Given the description of an element on the screen output the (x, y) to click on. 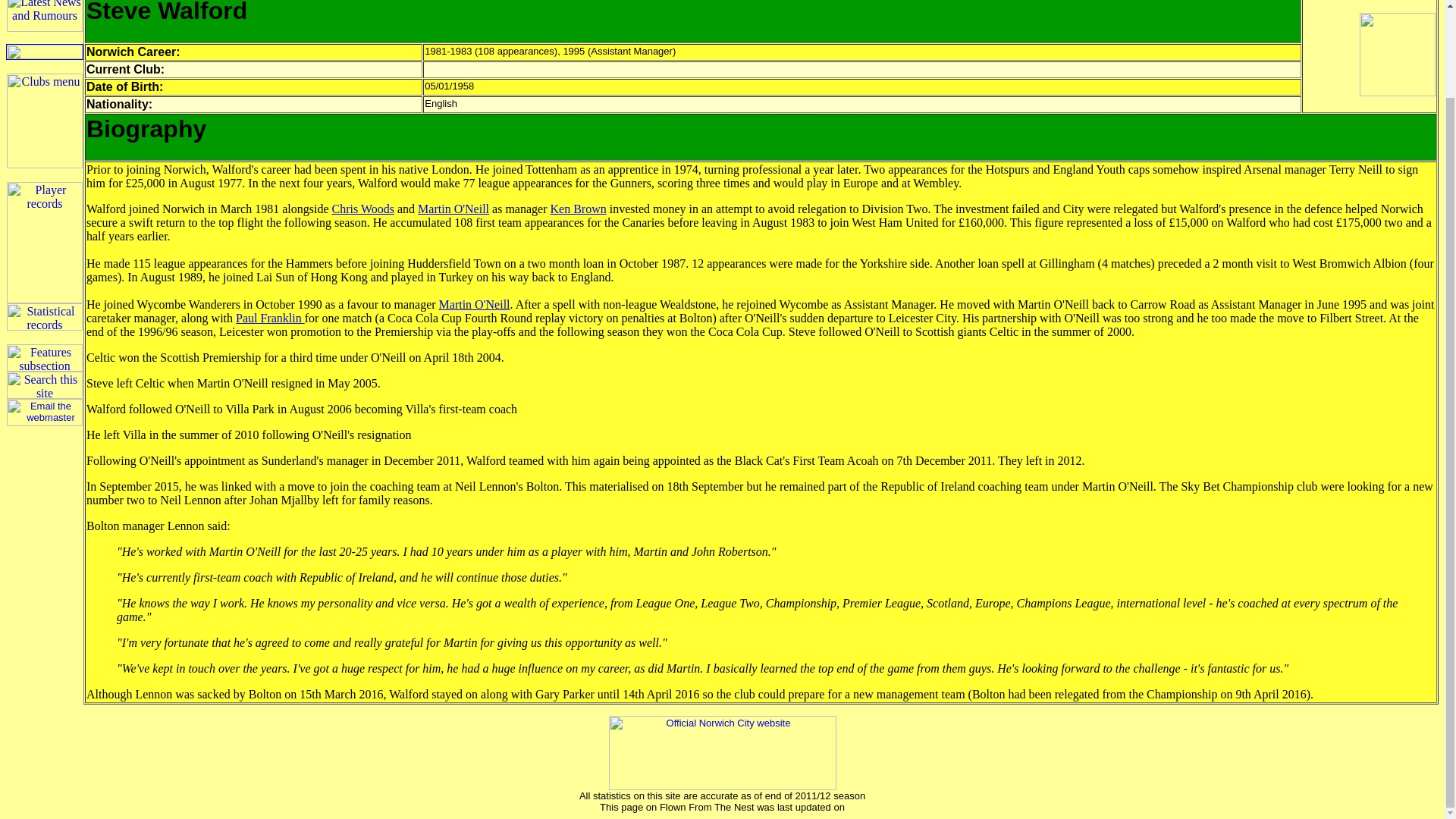
Martin O'Neill (453, 208)
Paul Franklin (269, 318)
Ken Brown (577, 208)
Martin O'Neill (475, 304)
Chris Woods (362, 208)
